Given the description of an element on the screen output the (x, y) to click on. 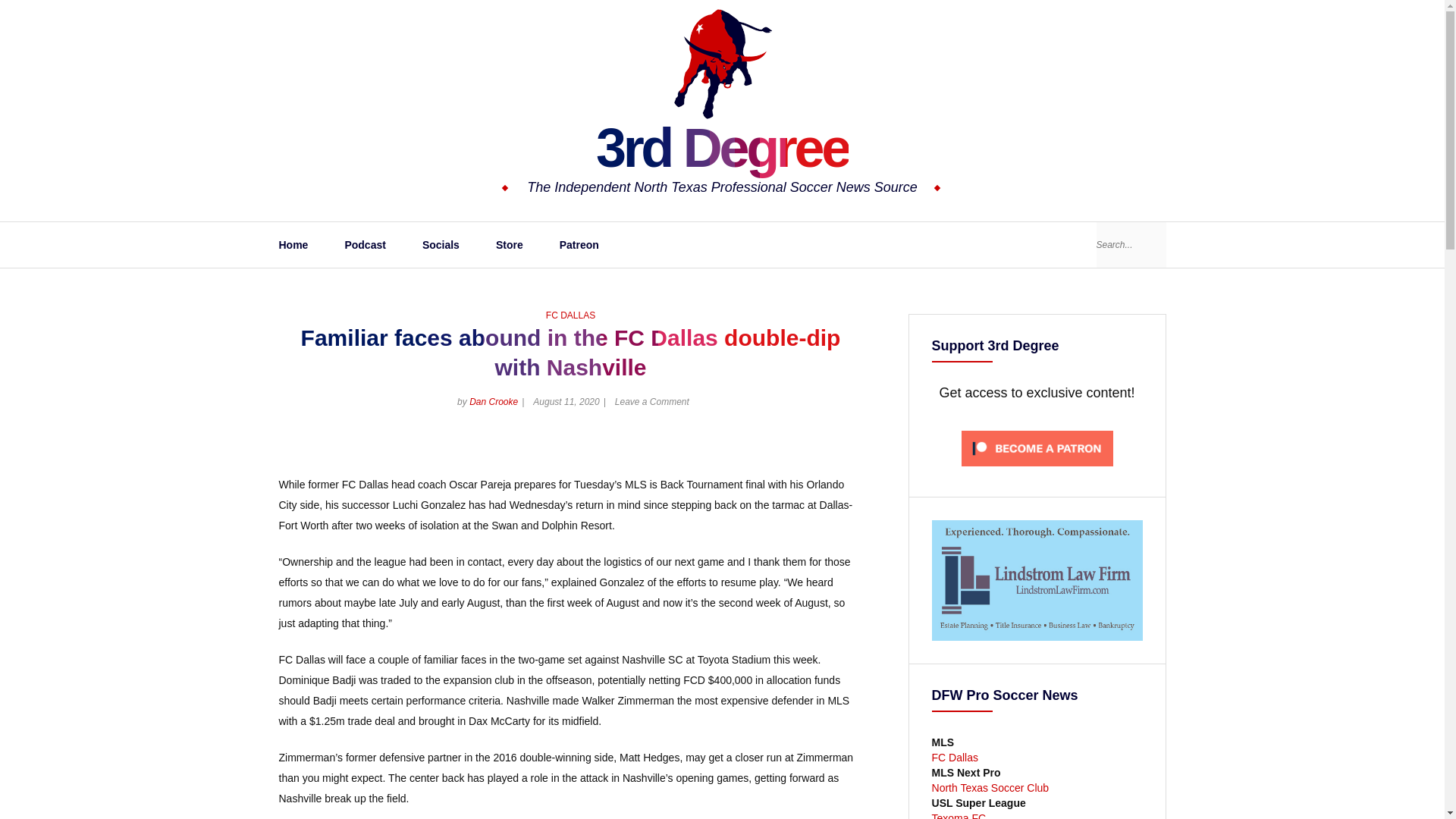
August 11, 2020 (565, 401)
North Texas Soccer Club (990, 787)
Store (509, 244)
Share on Facebook (821, 450)
Share on X (796, 450)
Socials (440, 244)
FC Dallas (954, 764)
3rd Degree (721, 147)
Podcast (364, 244)
FC DALLAS (570, 315)
Texoma FC (959, 815)
Search (1148, 244)
Share on Reddit (849, 450)
Patreon (579, 244)
